Given the description of an element on the screen output the (x, y) to click on. 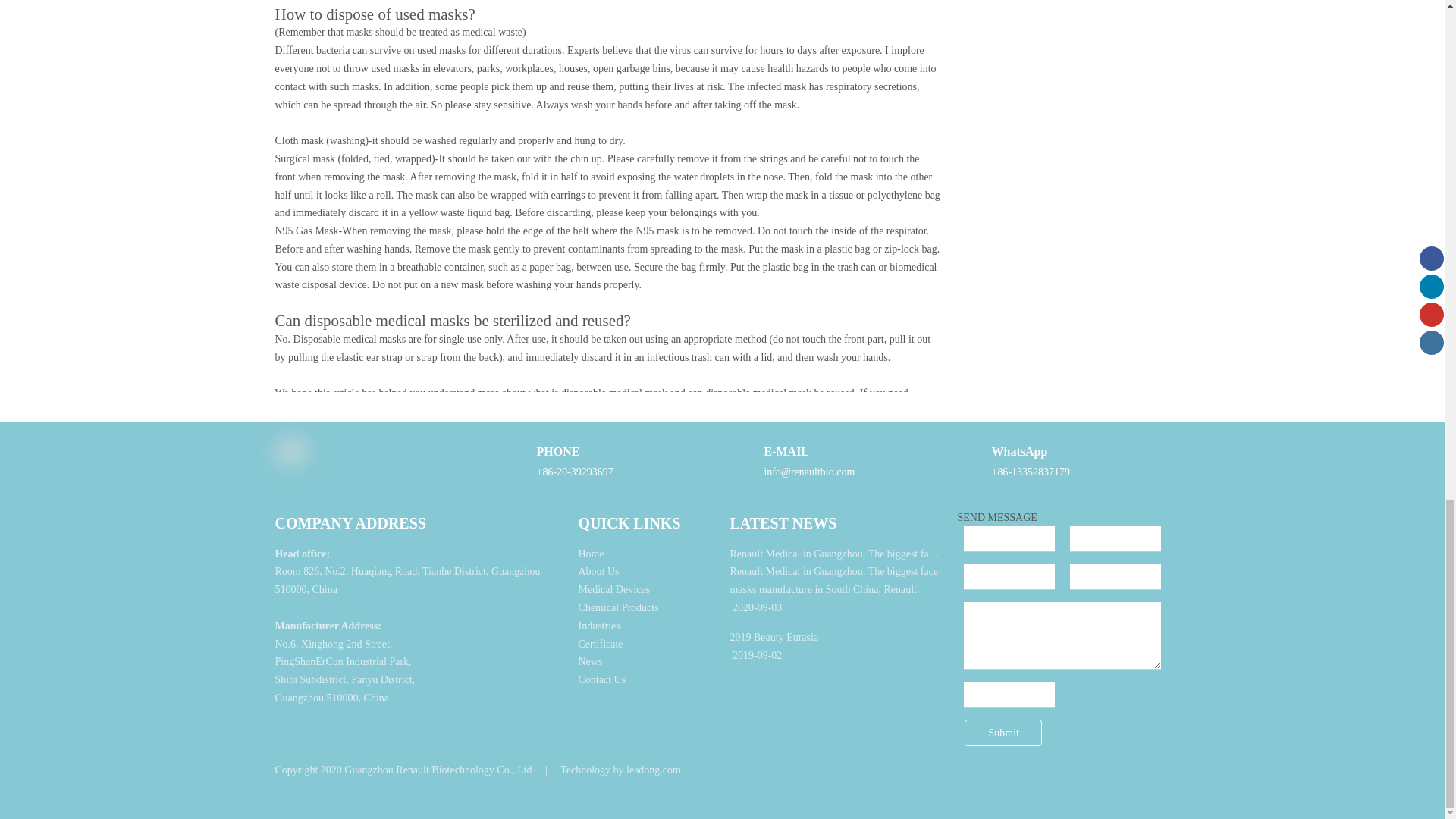
About Us (598, 571)
logo (290, 451)
Medical Devices (613, 589)
Home (591, 553)
